Given the description of an element on the screen output the (x, y) to click on. 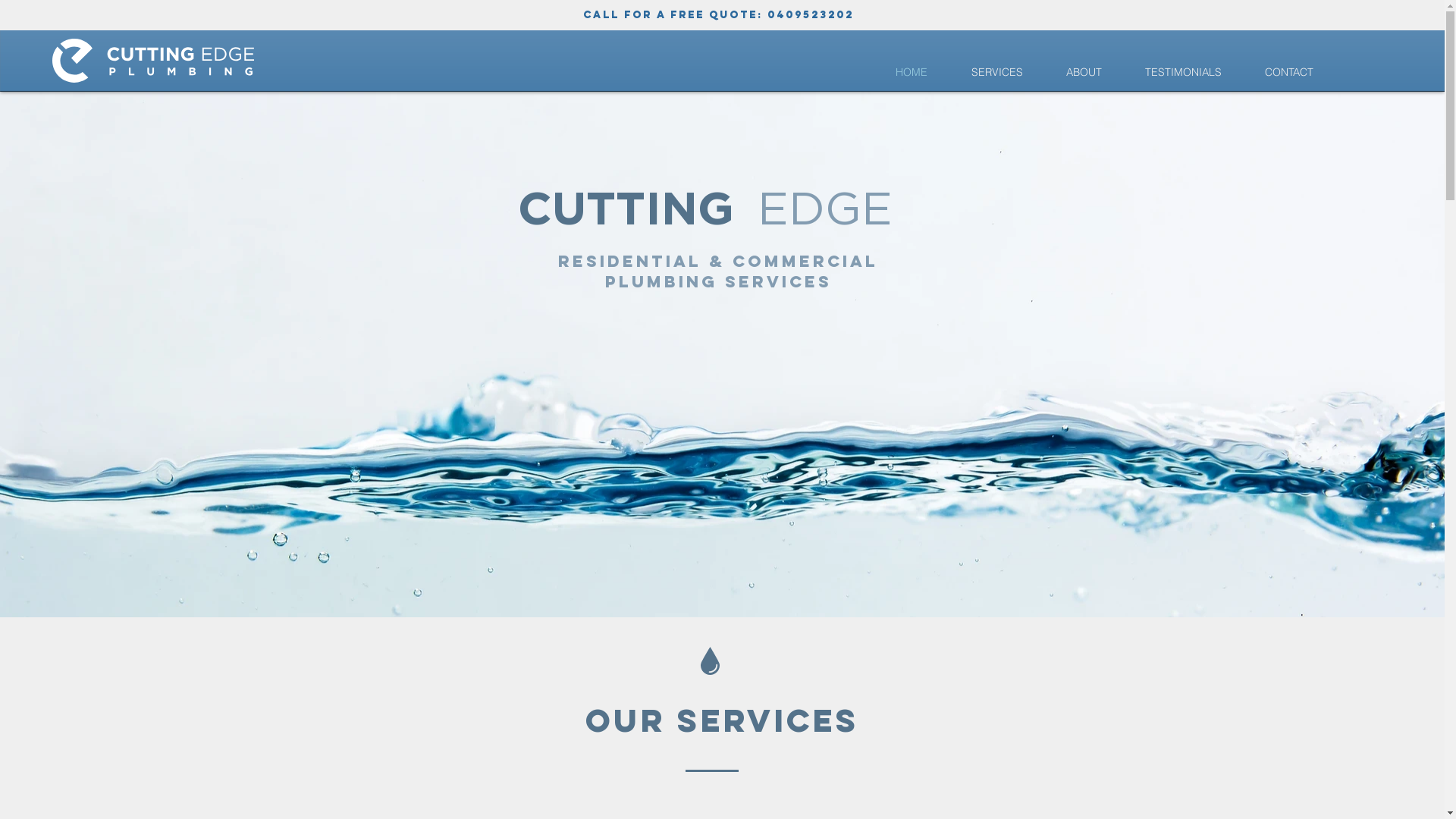
CONTACT Element type: text (1288, 71)
HOME Element type: text (911, 71)
ABOUT Element type: text (1083, 71)
TESTIMONIALS Element type: text (1182, 71)
call for a free quote: 0409523202 Element type: text (717, 14)
SERVICES Element type: text (996, 71)
